Given the description of an element on the screen output the (x, y) to click on. 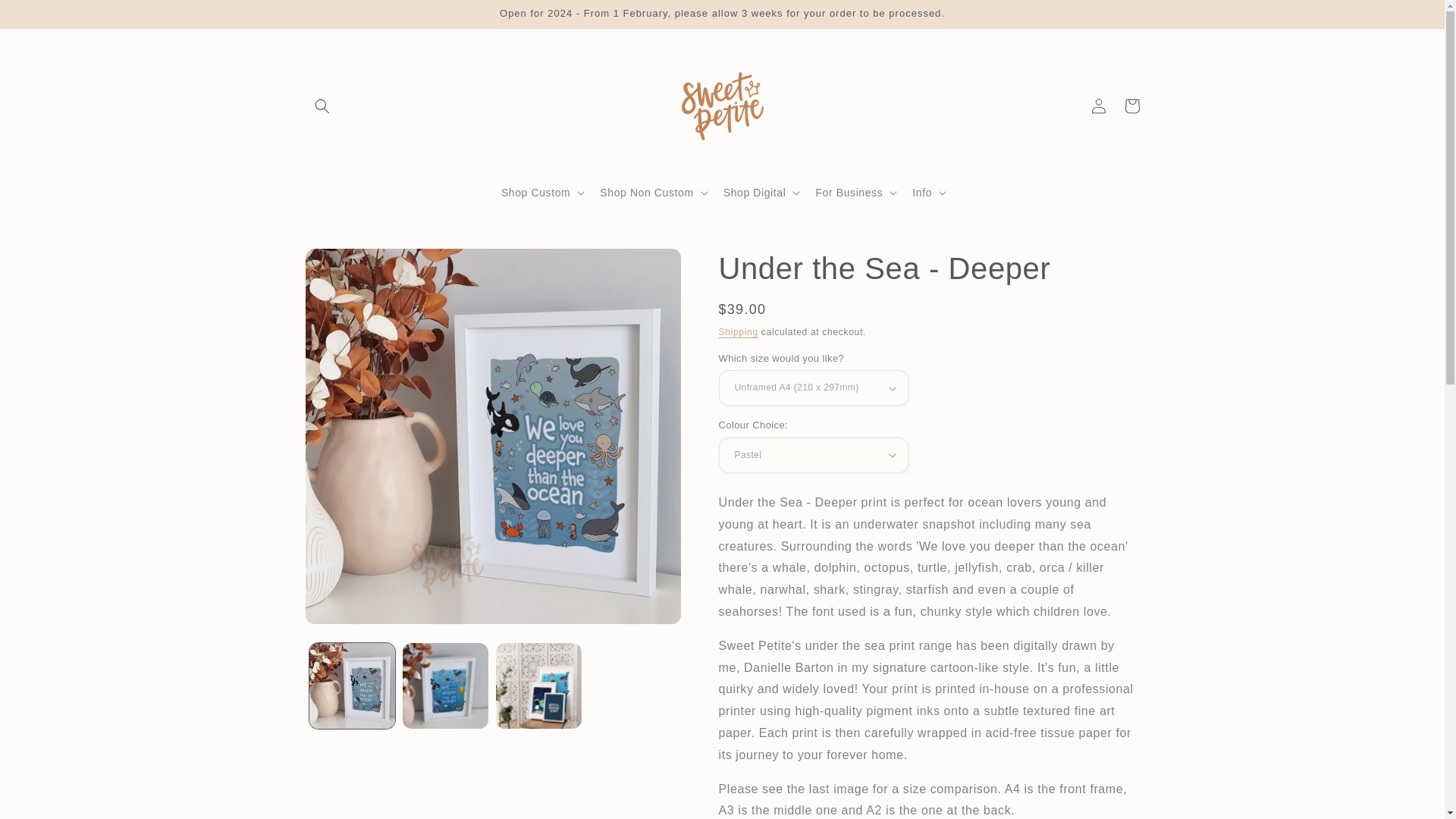
Skip to content (45, 17)
